Given the description of an element on the screen output the (x, y) to click on. 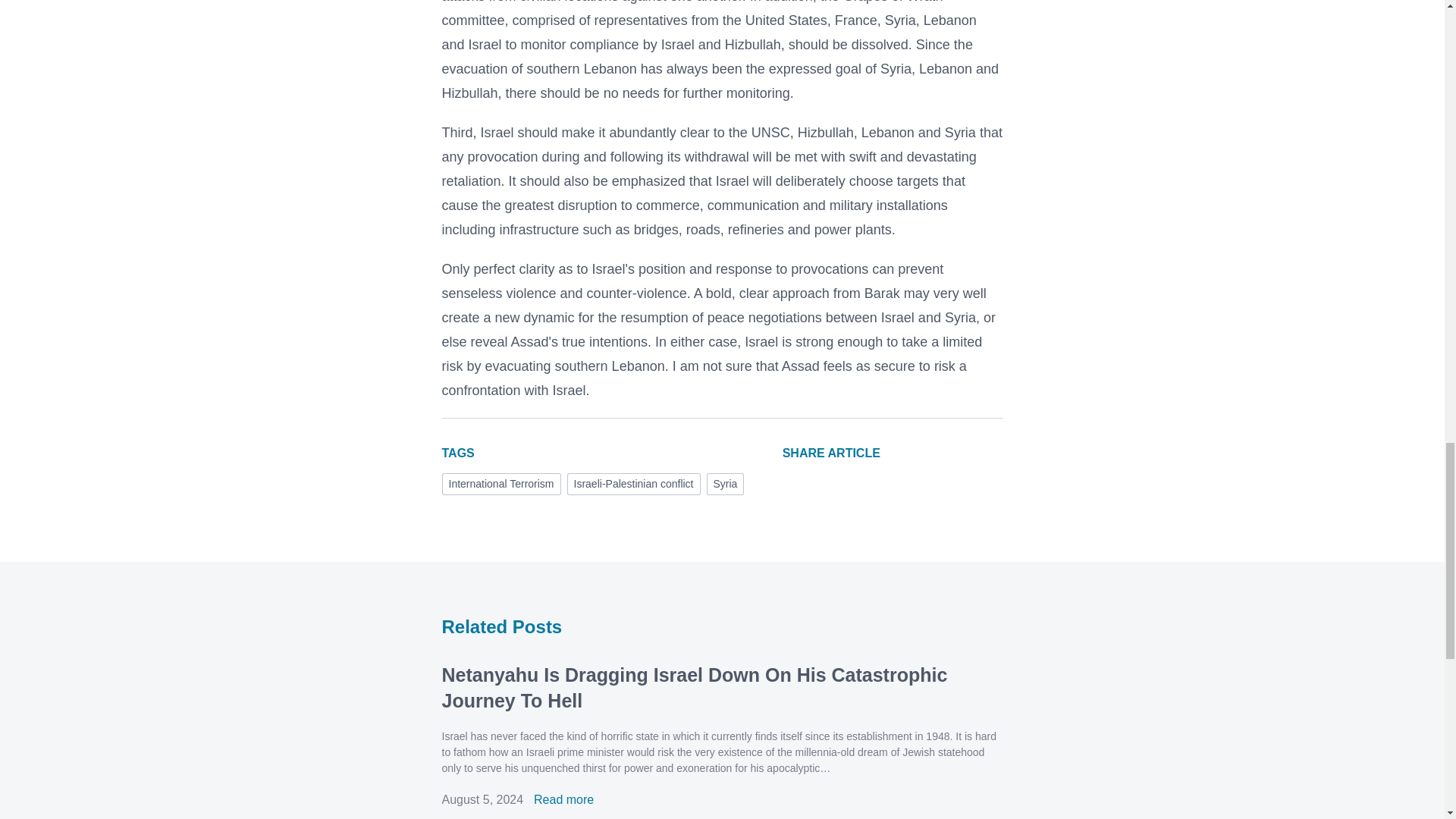
Syria (725, 484)
Israeli-Palestinian conflict (633, 484)
Read more (564, 799)
International Terrorism (500, 484)
